Given the description of an element on the screen output the (x, y) to click on. 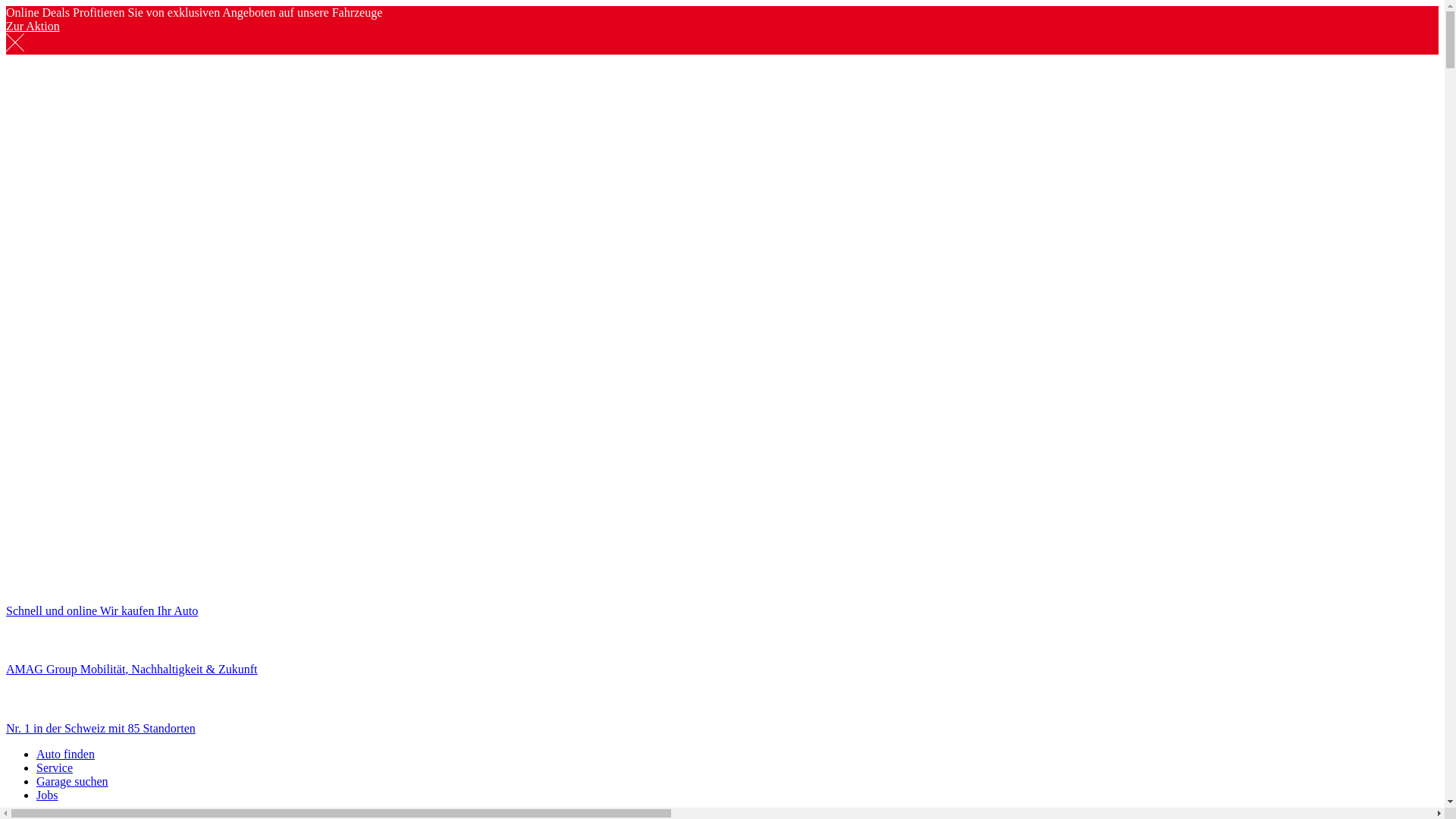
Auto finden Element type: text (65, 753)
Zur Aktion Element type: text (32, 25)
Service Element type: text (54, 767)
Garage suchen Element type: text (72, 781)
Nr. 1 in der Schweiz mit 85 Standorten Element type: text (722, 715)
Schnell und online Wir kaufen Ihr Auto Element type: text (722, 598)
Jobs Element type: text (46, 794)
